Given the description of an element on the screen output the (x, y) to click on. 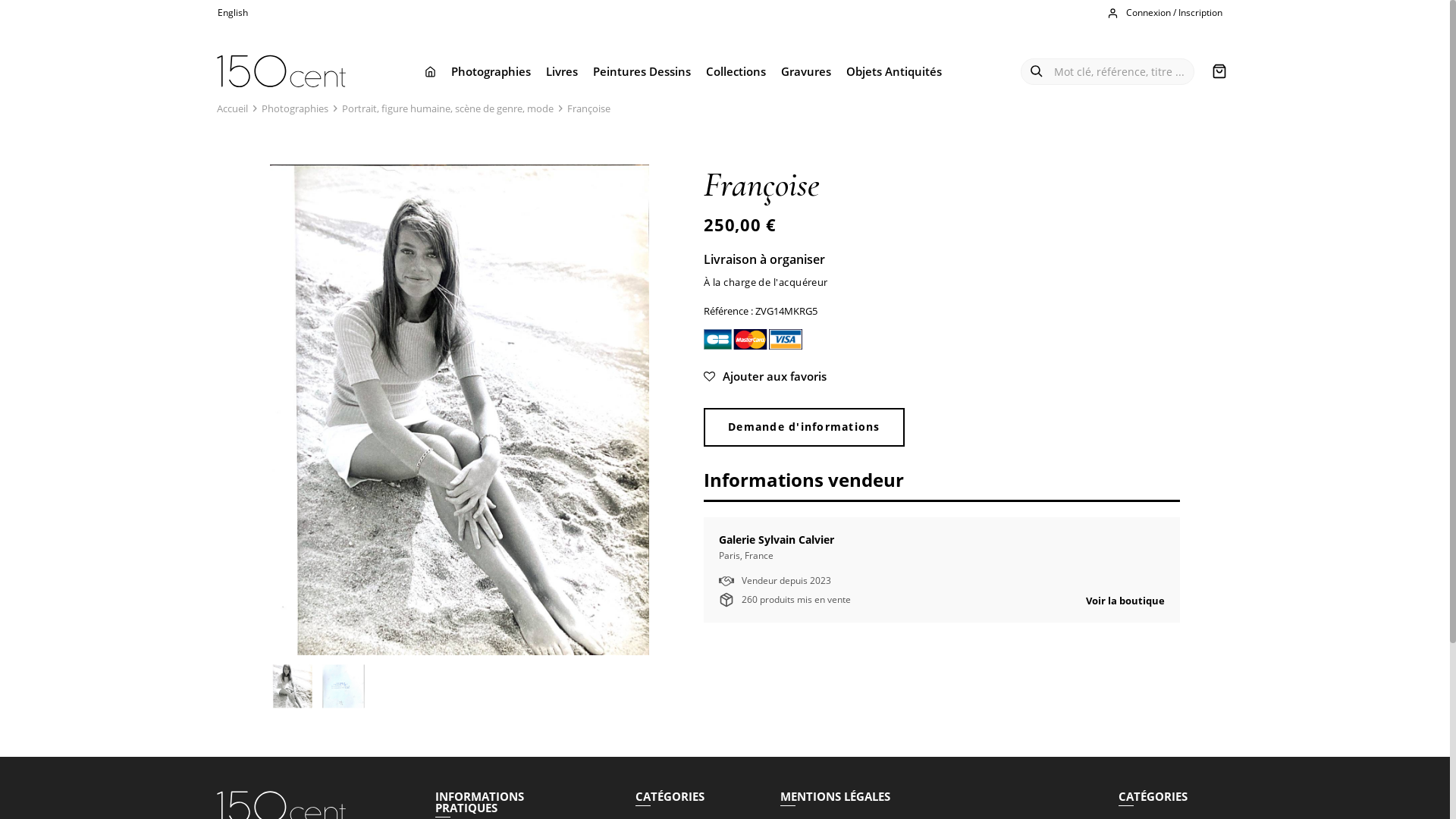
Photographies Element type: text (490, 71)
Voir la boutique Element type: text (1124, 600)
Connexion / Inscription Element type: text (1166, 12)
English Element type: text (235, 12)
Collections Element type: text (735, 71)
Accueil Element type: text (231, 108)
Peintures Dessins Element type: text (641, 71)
Demande d'informations Element type: text (803, 426)
Panier Element type: hover (1219, 70)
Ajouter aux favoris Element type: text (941, 375)
Livres Element type: text (561, 71)
Gravures Element type: text (805, 71)
Photographies Element type: text (294, 108)
